Given the description of an element on the screen output the (x, y) to click on. 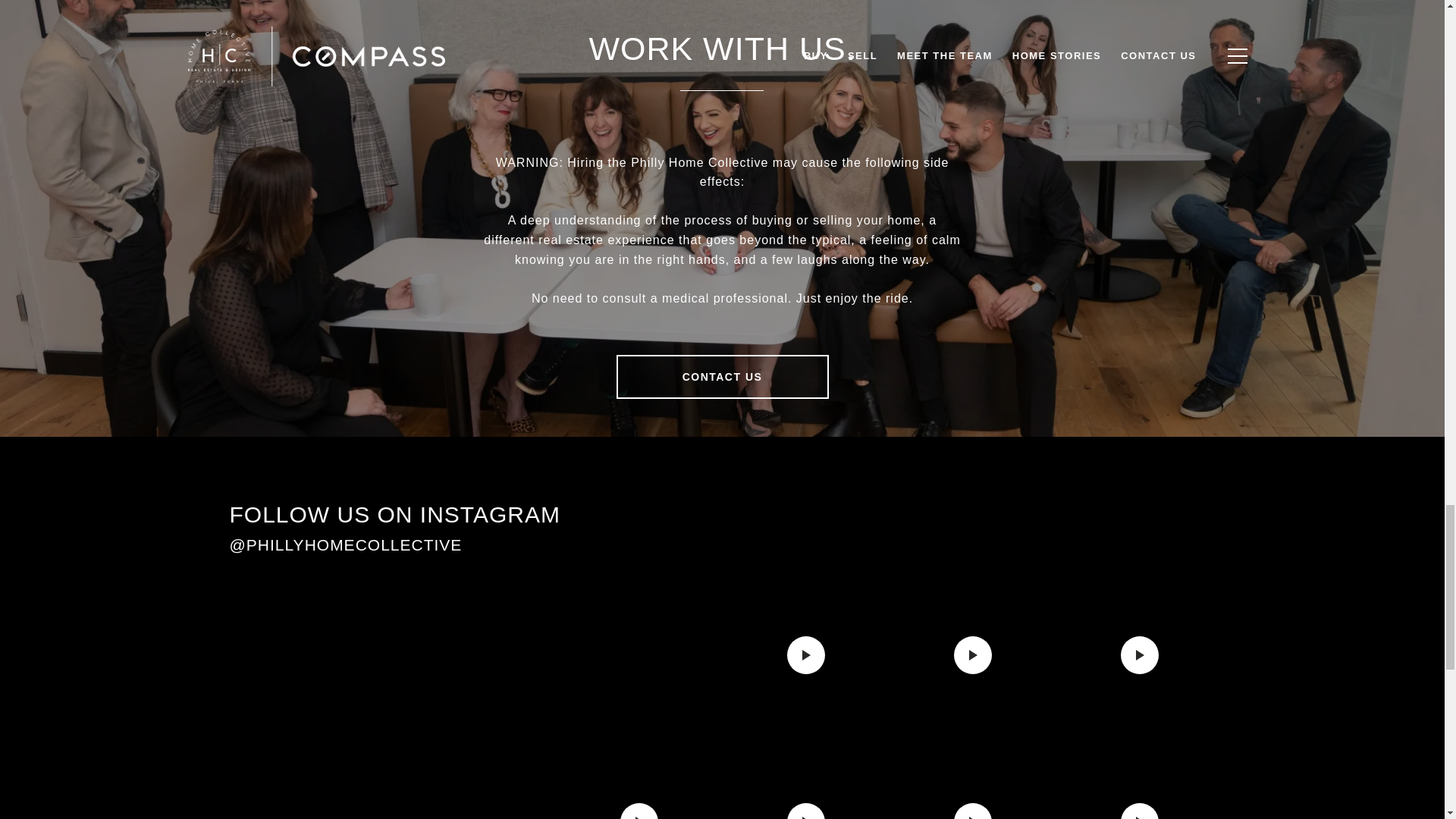
CONTACT US (721, 376)
FOLLOW US (1023, 534)
